Given the description of an element on the screen output the (x, y) to click on. 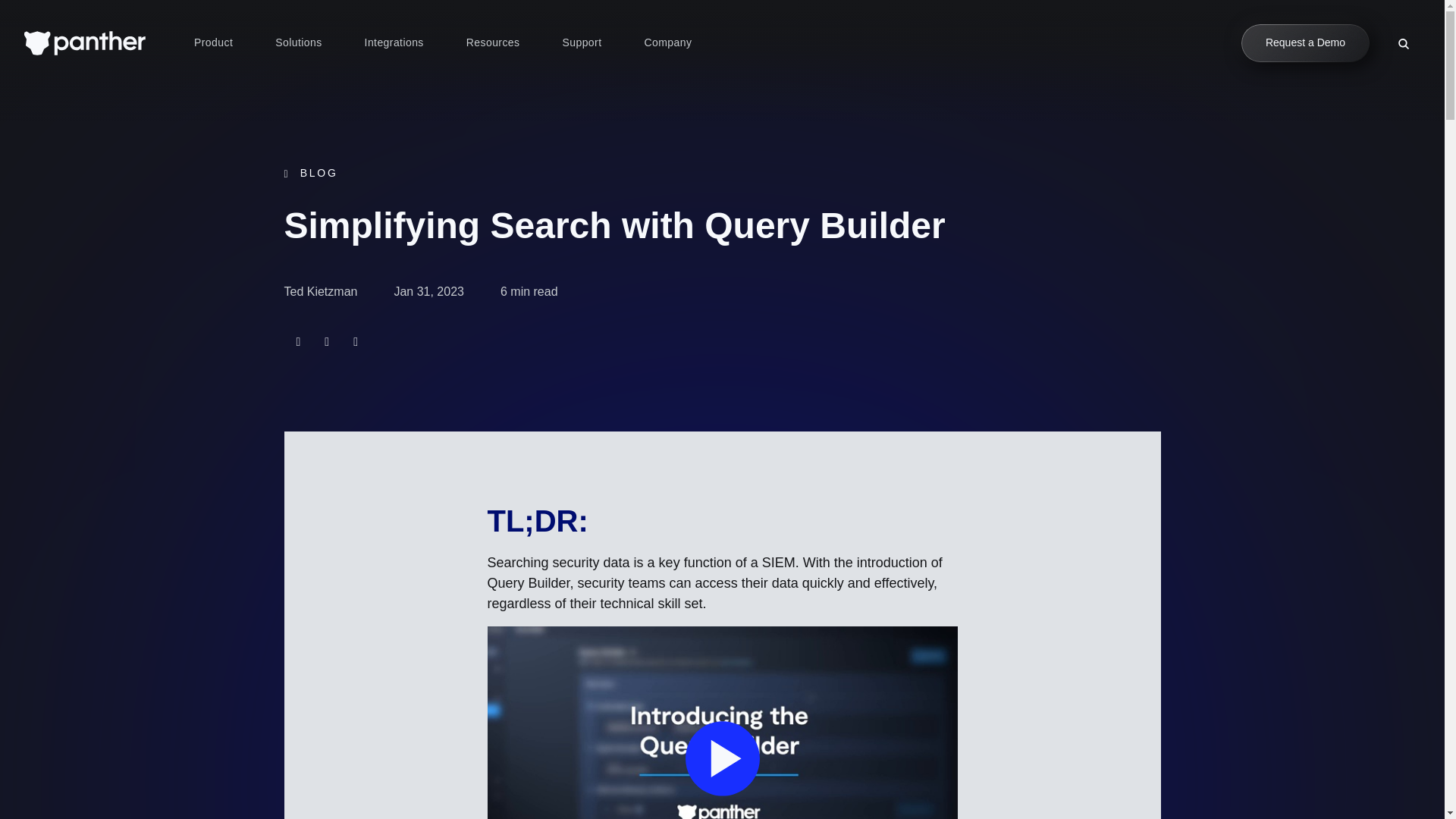
Solutions (298, 43)
Resources (493, 43)
Product (213, 43)
Integrations (393, 43)
Company (667, 43)
Support (581, 43)
